Given the description of an element on the screen output the (x, y) to click on. 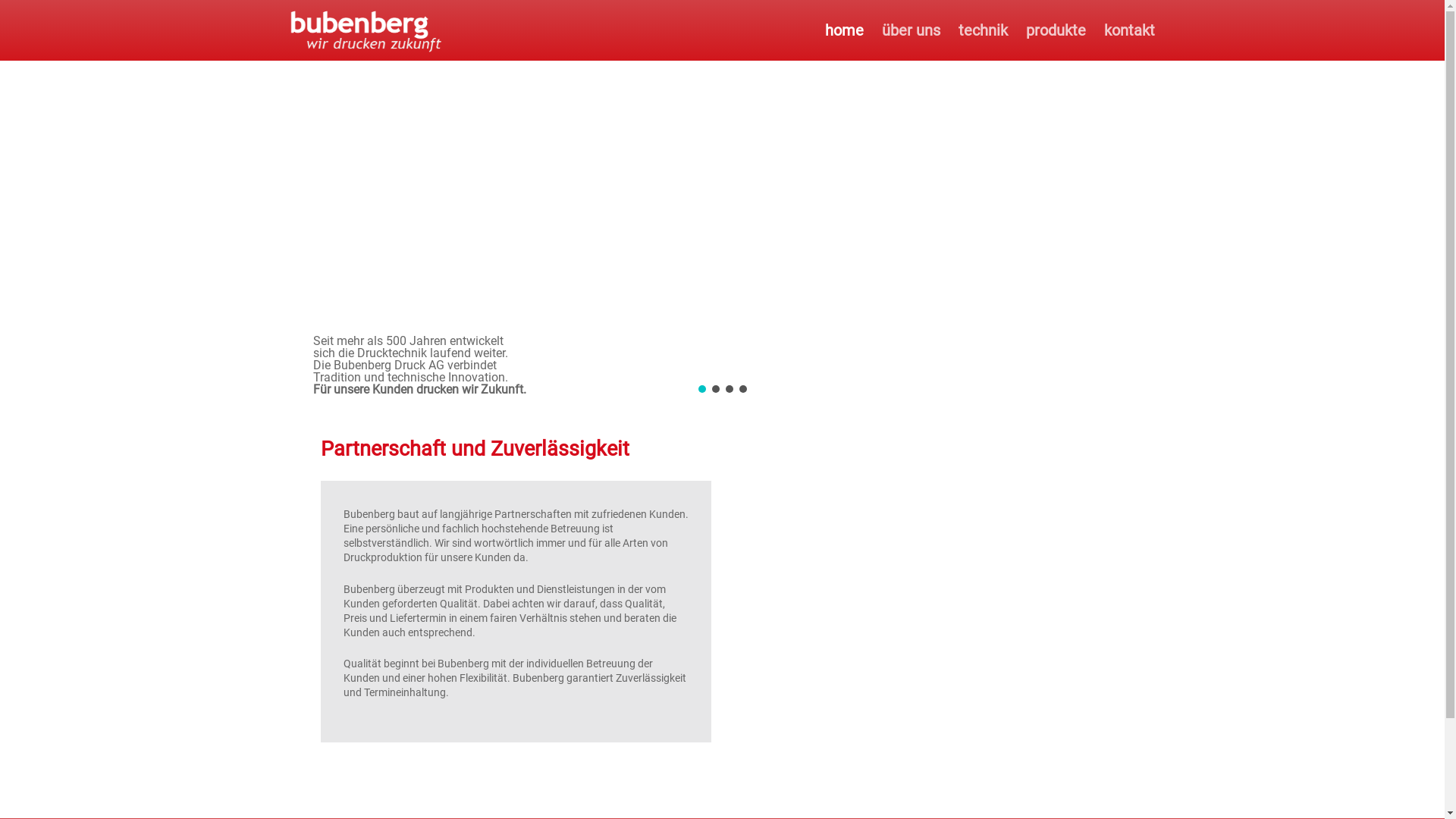
home Element type: text (844, 30)
kontakt Element type: text (1129, 30)
technik Element type: text (982, 30)
produkte Element type: text (1055, 30)
Bubenberg Druck Element type: text (365, 30)
